Given the description of an element on the screen output the (x, y) to click on. 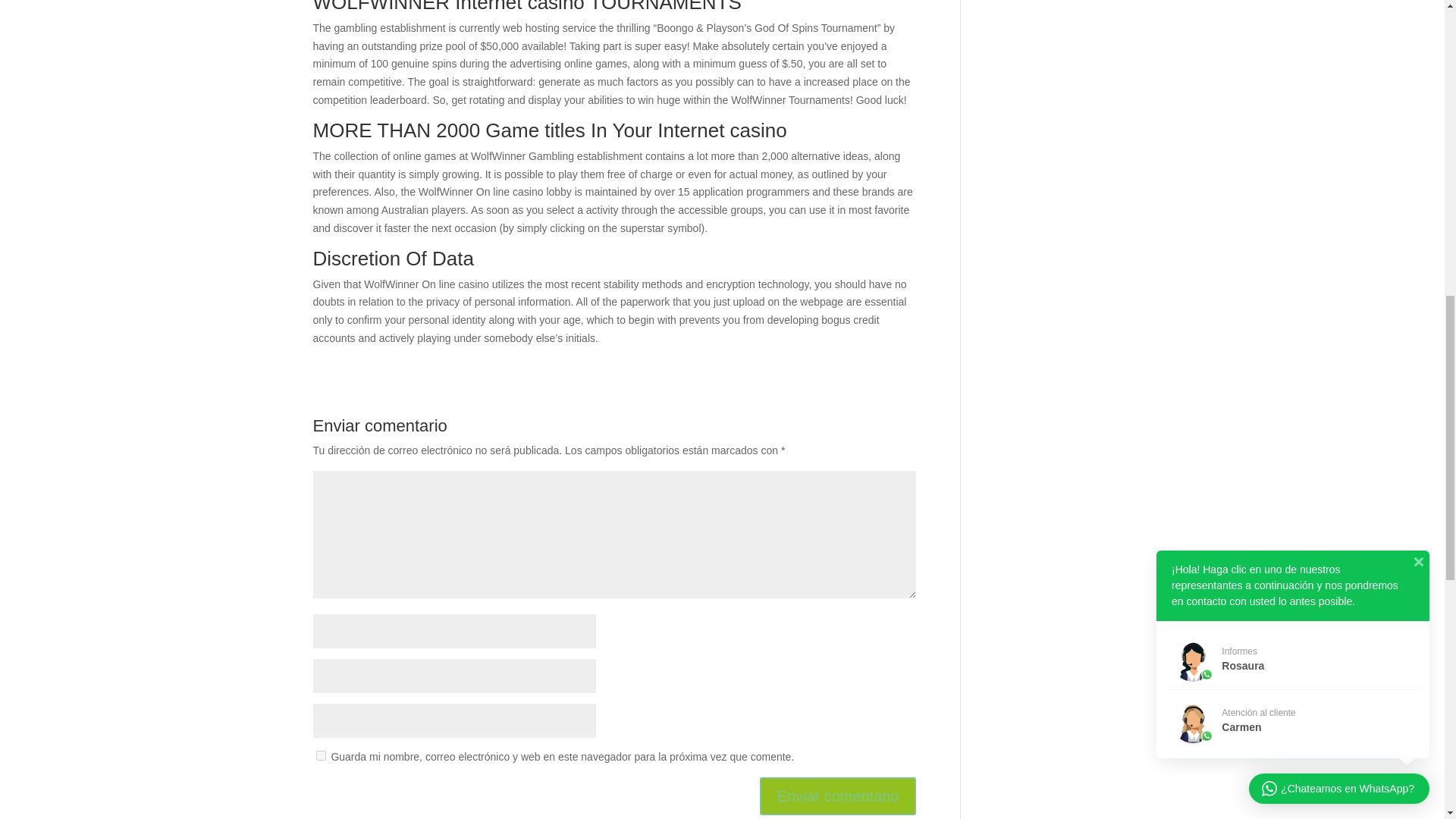
Enviar comentario (837, 795)
Enviar comentario (837, 795)
yes (319, 755)
